Given the description of an element on the screen output the (x, y) to click on. 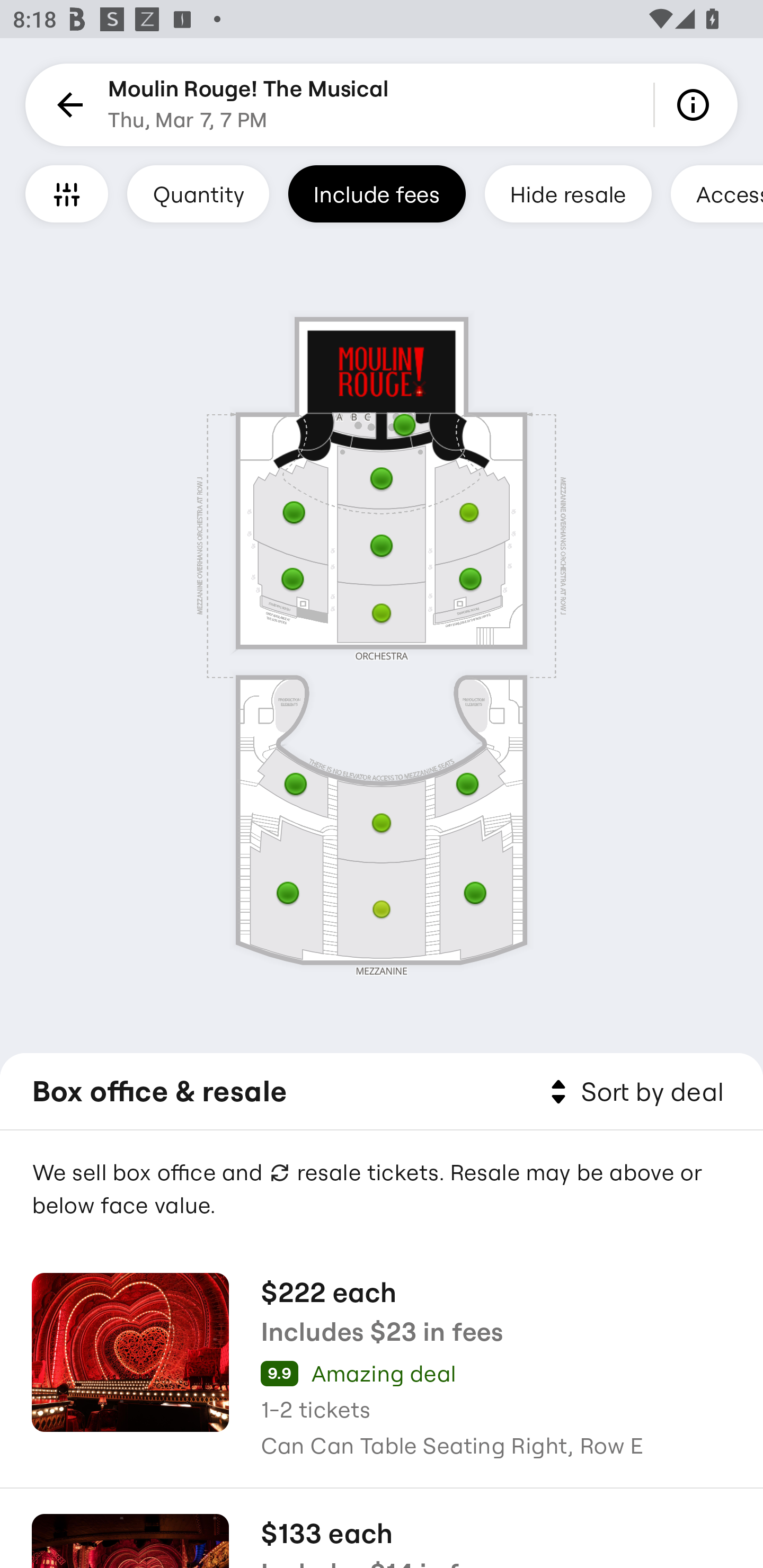
Back (66, 104)
Moulin Rouge! The Musical Thu, Mar 7, 7 PM (248, 104)
Info (695, 104)
Filters and Accessible Seating (66, 193)
Quantity (198, 193)
Include fees (376, 193)
Hide resale (567, 193)
Access code (716, 193)
Sort by deal (633, 1091)
